Given the description of an element on the screen output the (x, y) to click on. 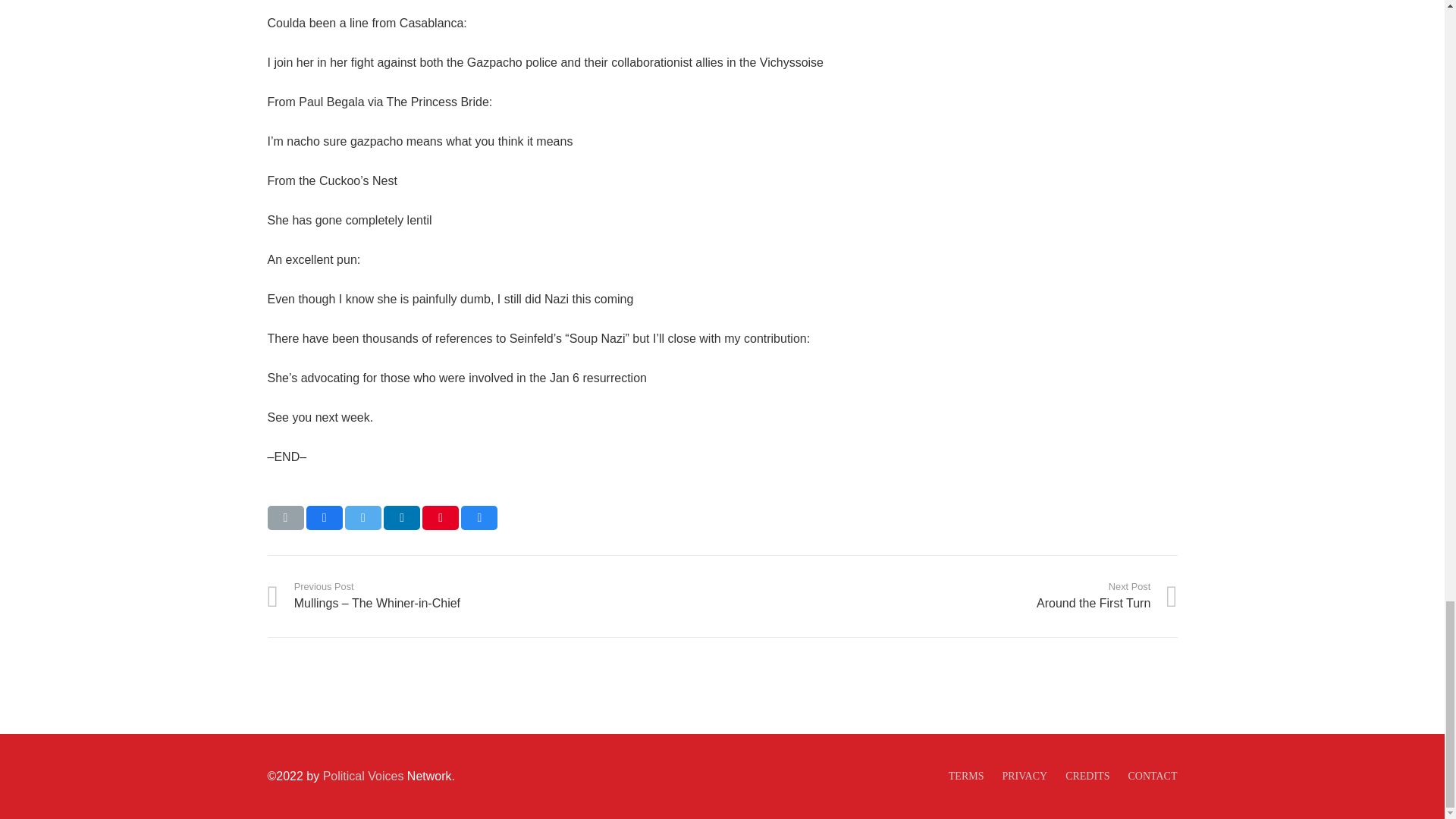
Tweet this (363, 517)
Share this (479, 517)
TERMS (966, 776)
Email this (284, 517)
Around the First Turn (949, 595)
Pin this (440, 517)
Political Voices (360, 775)
CONTACT (1151, 776)
Share this (402, 517)
PRIVACY (1023, 776)
CREDITS (1087, 776)
Share this (323, 517)
